Given the description of an element on the screen output the (x, y) to click on. 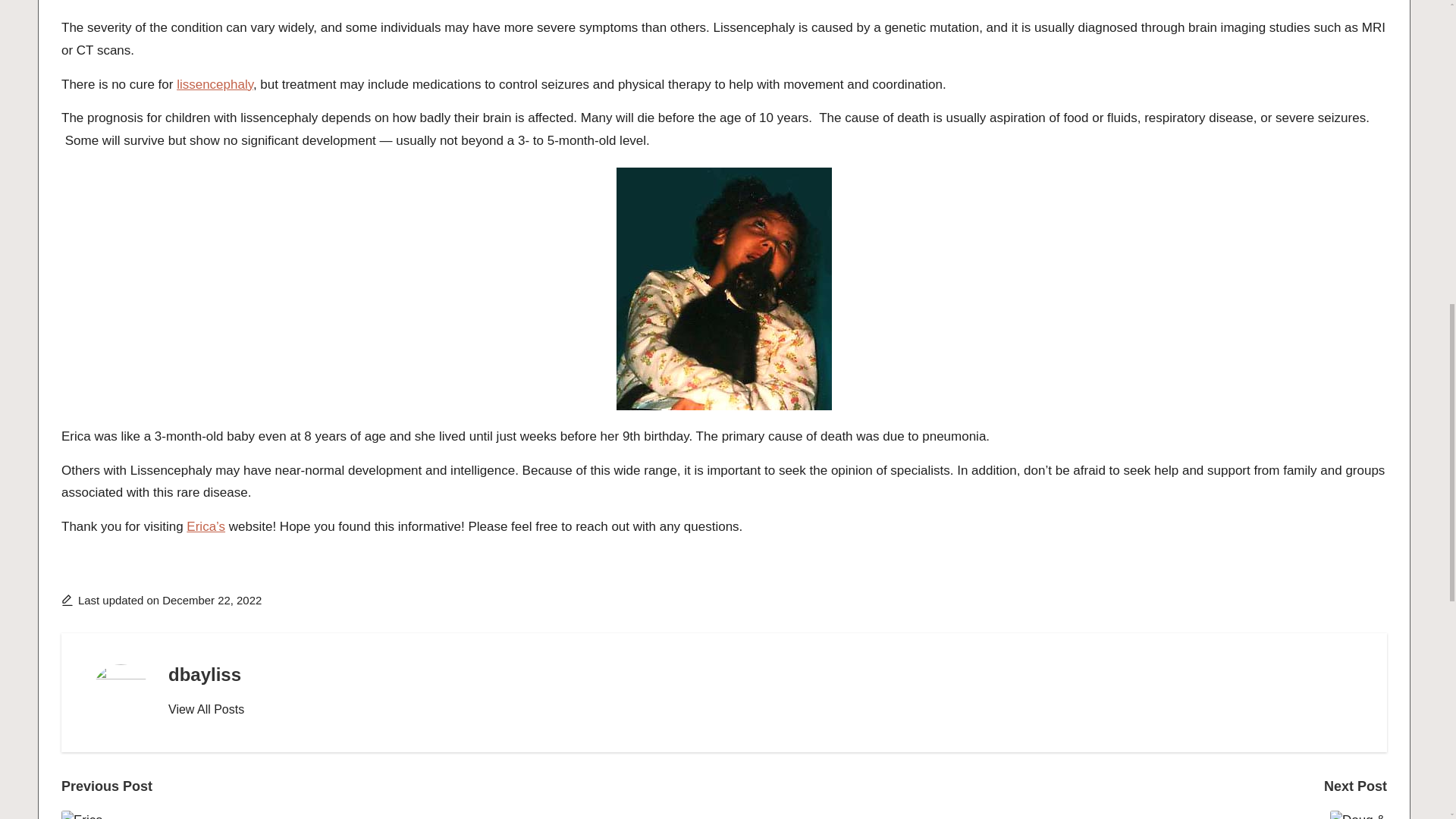
Happy Anniversary (1055, 814)
Buckeye Invitational (392, 814)
lissencephaly (214, 83)
dbayliss (204, 674)
View All Posts (206, 710)
